Given the description of an element on the screen output the (x, y) to click on. 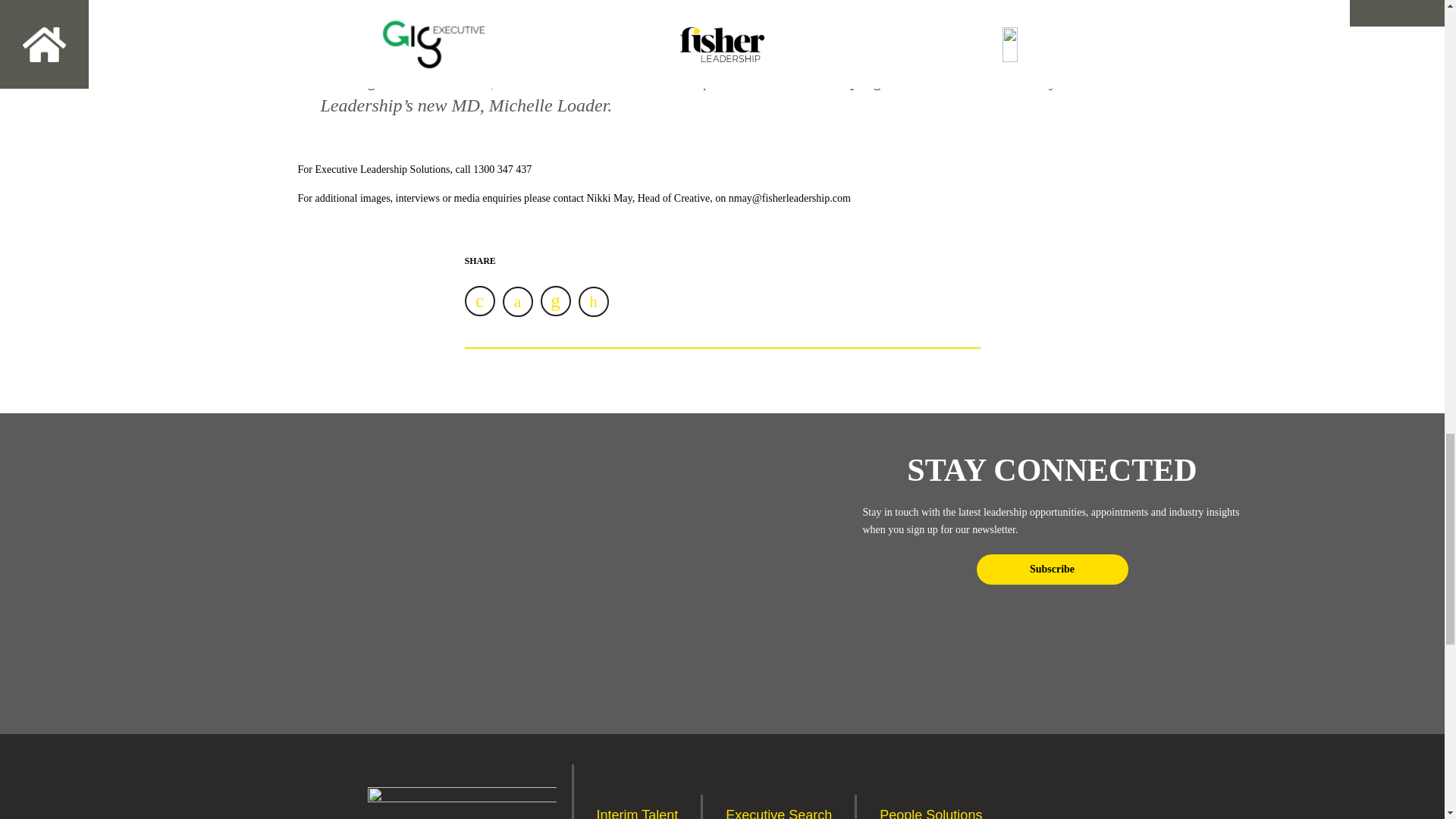
Subscribe (1052, 569)
People Solutions (929, 810)
Interim Talent (637, 810)
Executive Search (778, 810)
